Given the description of an element on the screen output the (x, y) to click on. 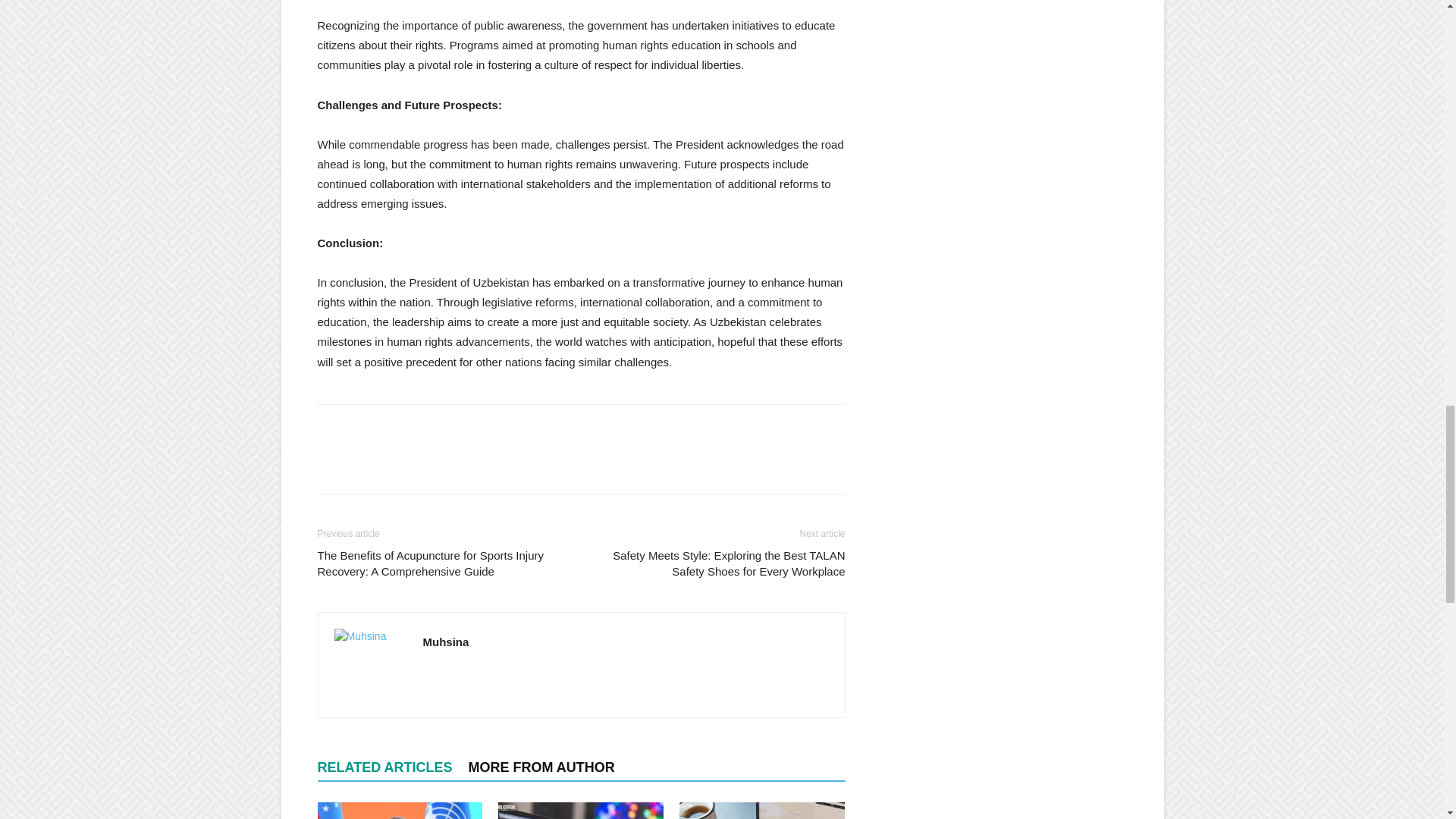
bottomFacebookLike (430, 428)
